Given the description of an element on the screen output the (x, y) to click on. 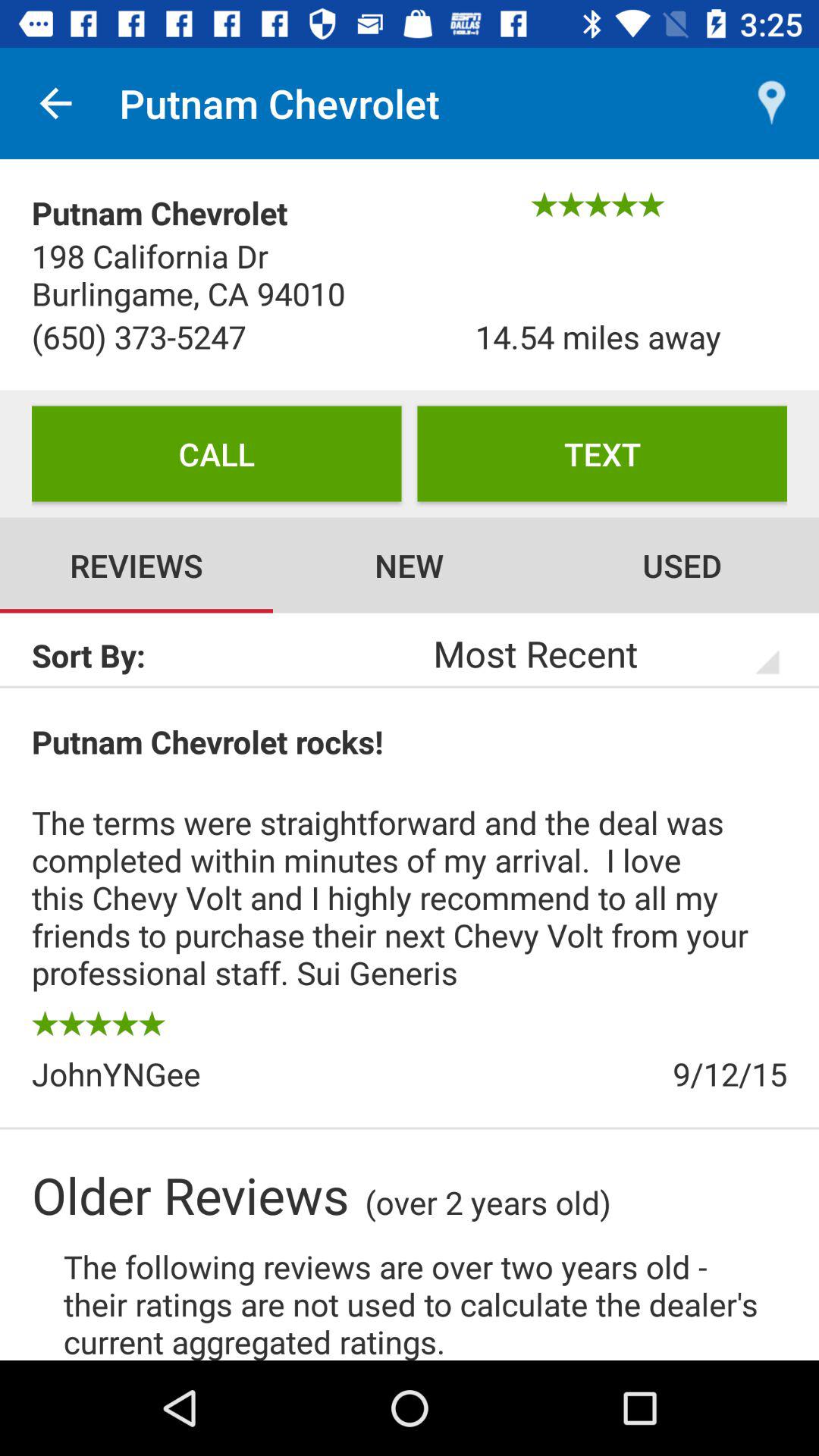
scroll until the call (216, 453)
